Given the description of an element on the screen output the (x, y) to click on. 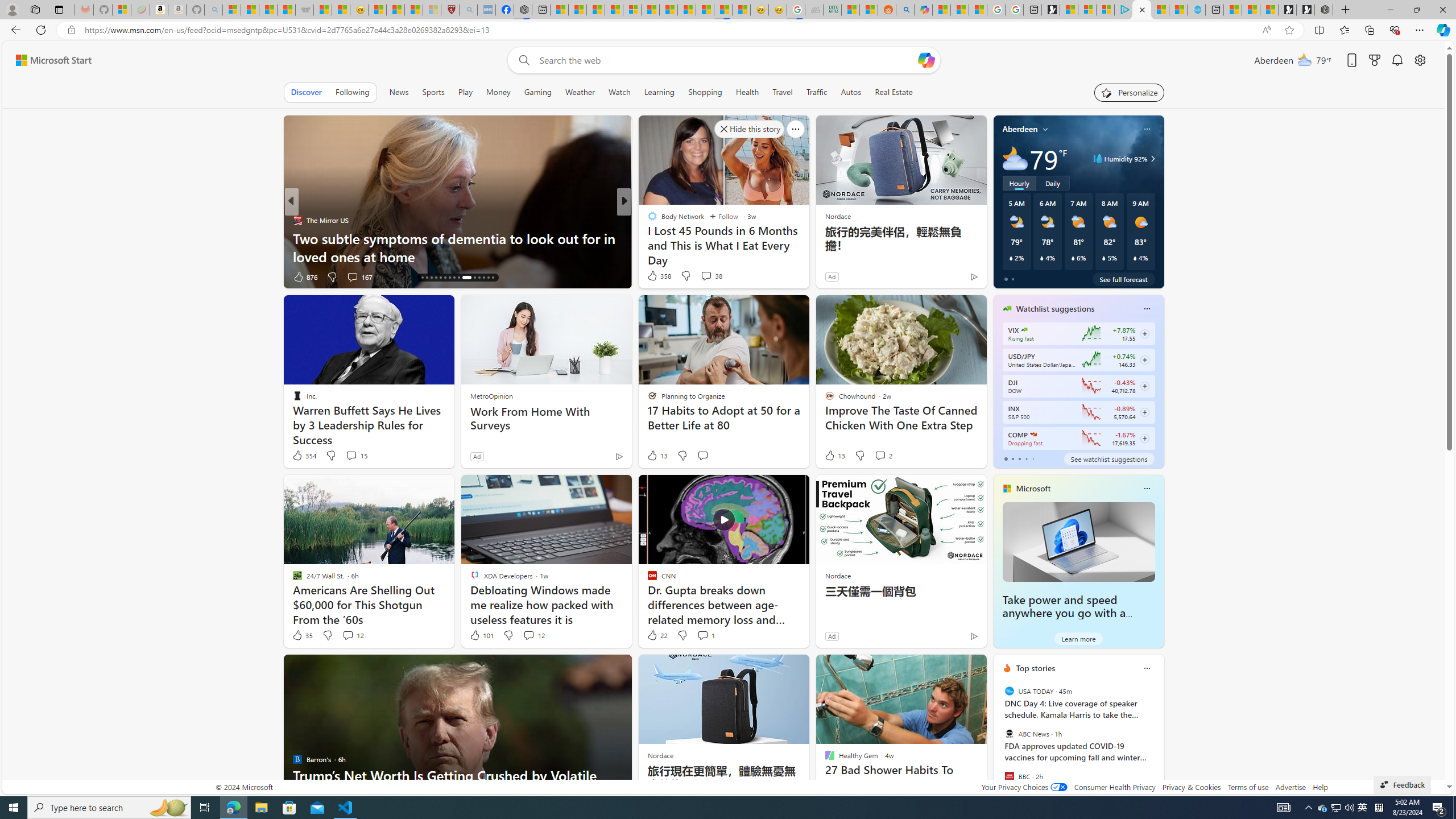
View comments 15 Comment (350, 455)
Notifications (1397, 60)
Home | Sky Blue Bikes - Sky Blue Bikes (1195, 9)
Navy Quest (814, 9)
AutomationID: tab-23 (454, 277)
Split screen (1318, 29)
Watch (619, 92)
BBC (1008, 775)
101 Like (480, 634)
Add this page to favorites (Ctrl+D) (1289, 29)
Health (746, 92)
Your Privacy Choices (1024, 786)
previous (998, 741)
